Given the description of an element on the screen output the (x, y) to click on. 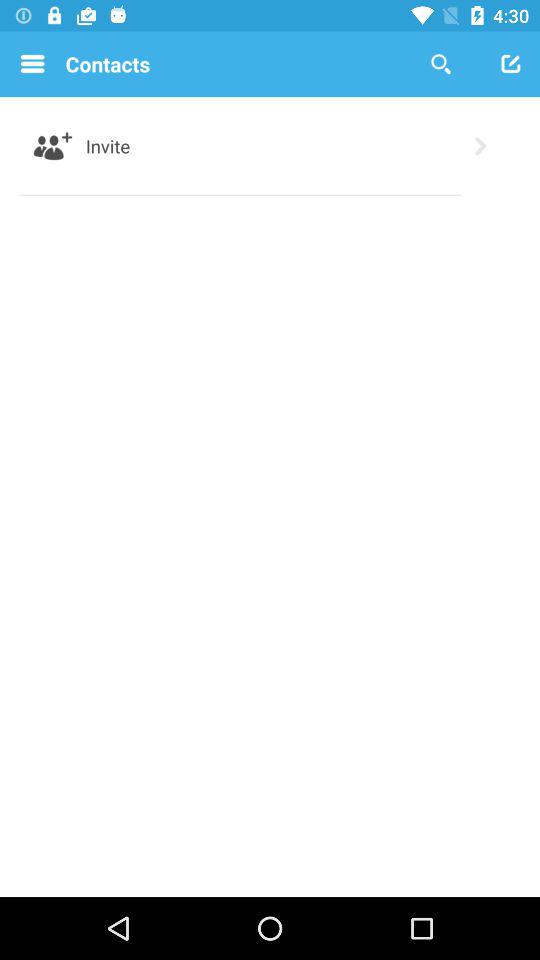
press icon to the right of the invite item (480, 146)
